Given the description of an element on the screen output the (x, y) to click on. 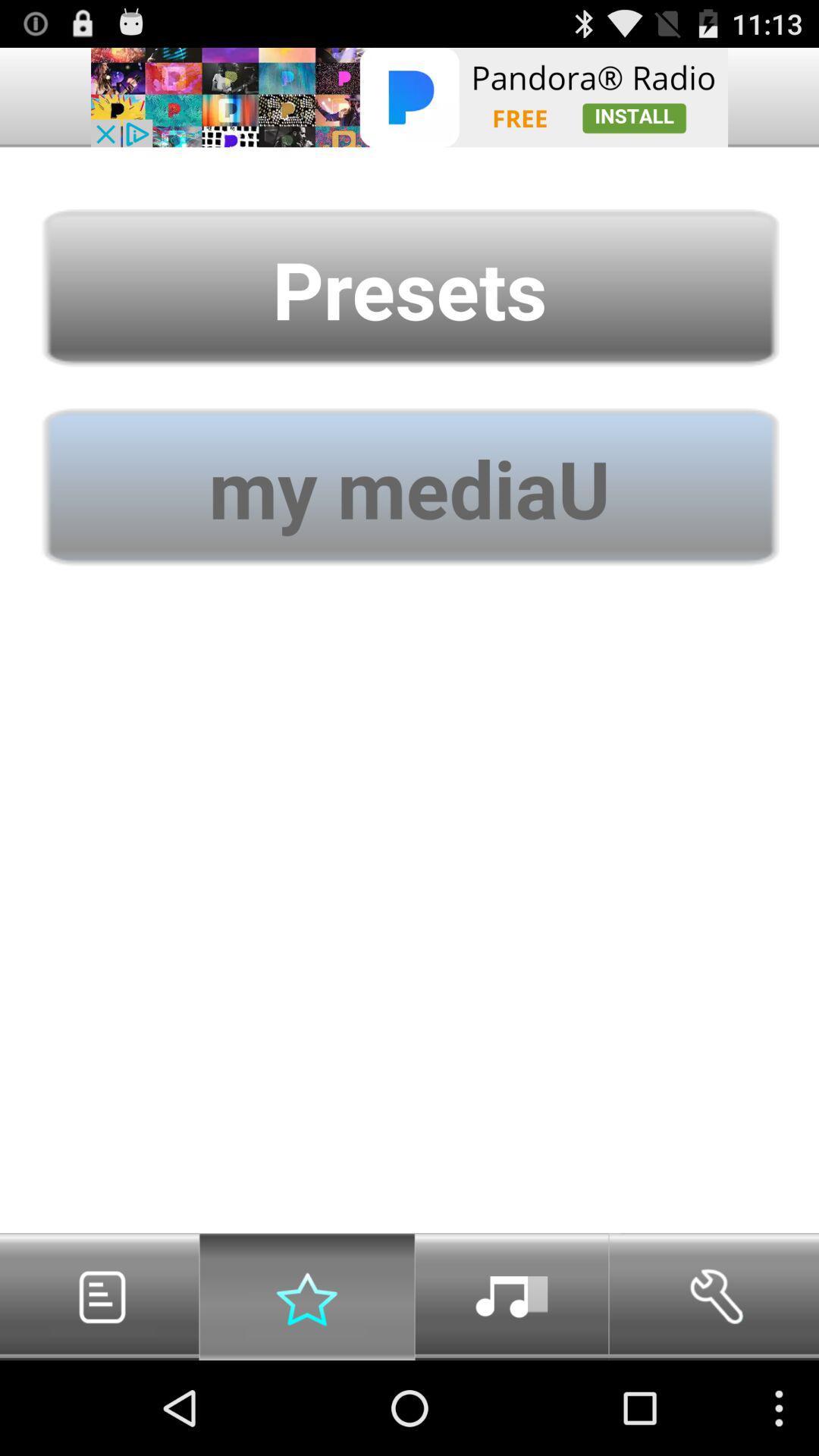
open link to install pandora (409, 97)
